Given the description of an element on the screen output the (x, y) to click on. 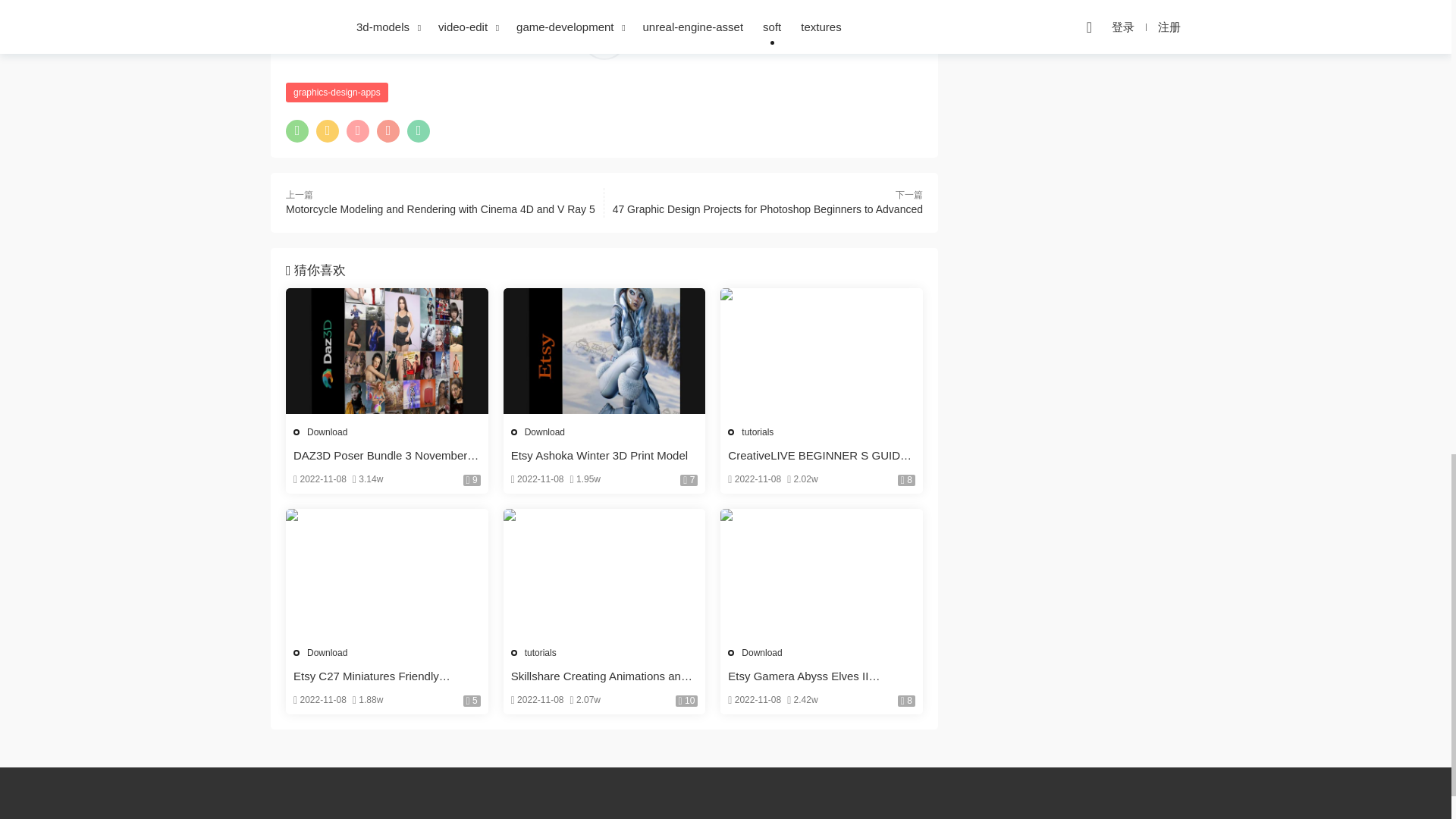
Download (544, 431)
0 (603, 36)
graphics-design-apps (336, 92)
Etsy Gamera Abyss Elves II GHAMAK 3D Print Models (821, 571)
Etsy Ashoka Winter 3D Print Model (604, 351)
DAZ3D Poser Bundle 3 November 2022 (387, 455)
